Given the description of an element on the screen output the (x, y) to click on. 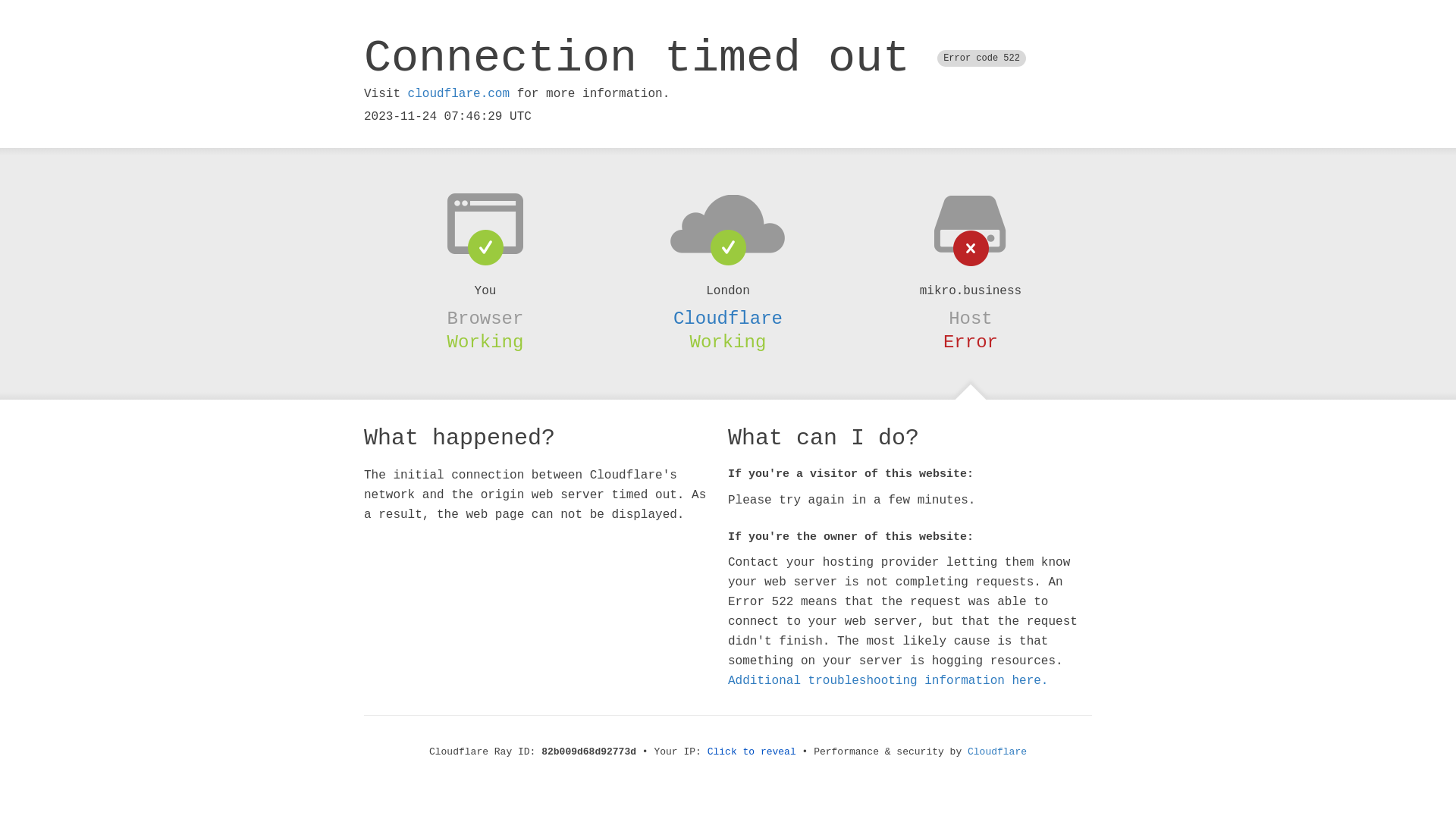
Click to reveal Element type: text (751, 751)
Cloudflare Element type: text (996, 751)
Additional troubleshooting information here. Element type: text (888, 680)
cloudflare.com Element type: text (458, 93)
Cloudflare Element type: text (727, 318)
